Given the description of an element on the screen output the (x, y) to click on. 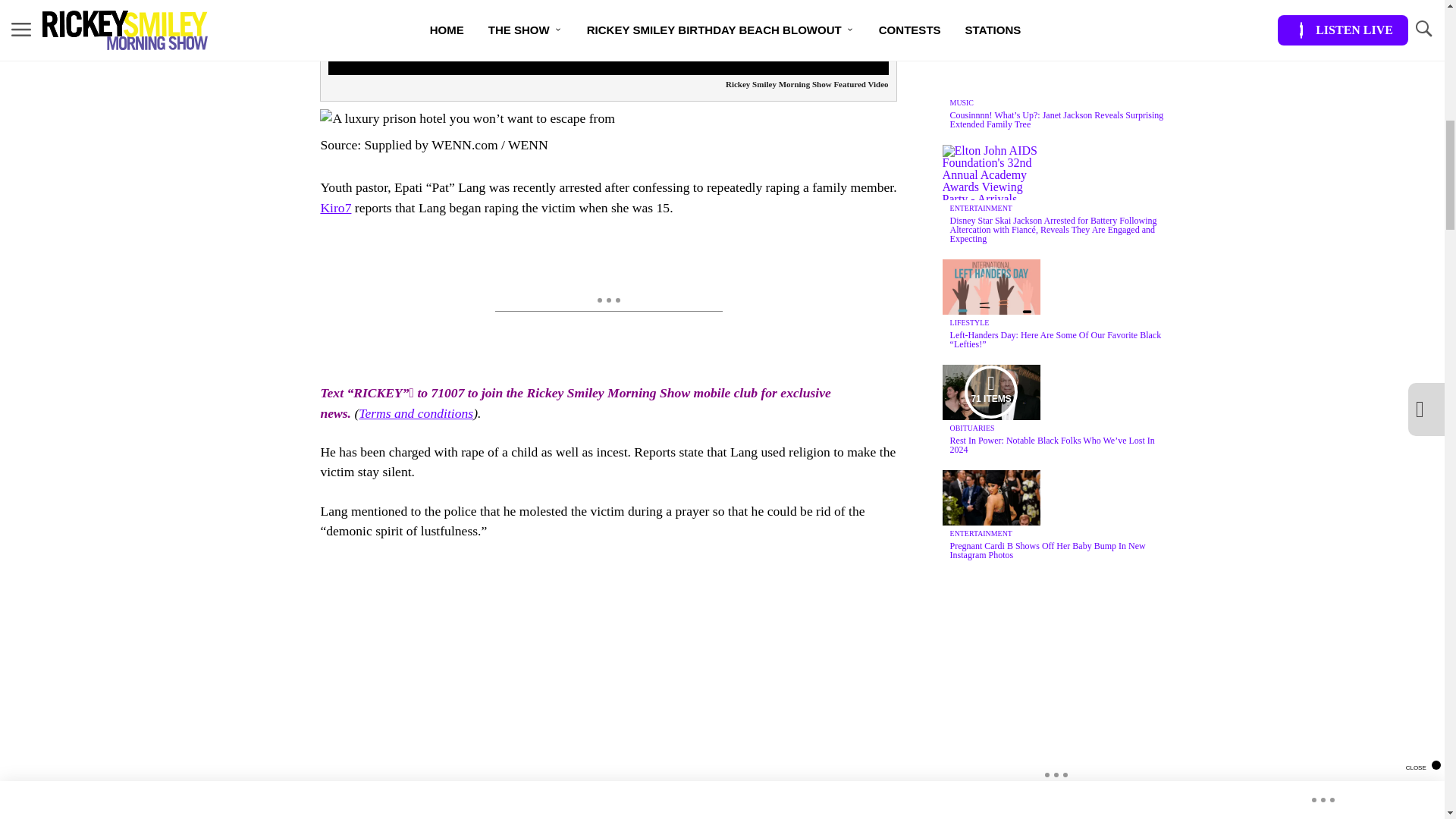
Media Playlist (990, 391)
Kiro7 (335, 207)
Terms and conditions (415, 412)
